Given the description of an element on the screen output the (x, y) to click on. 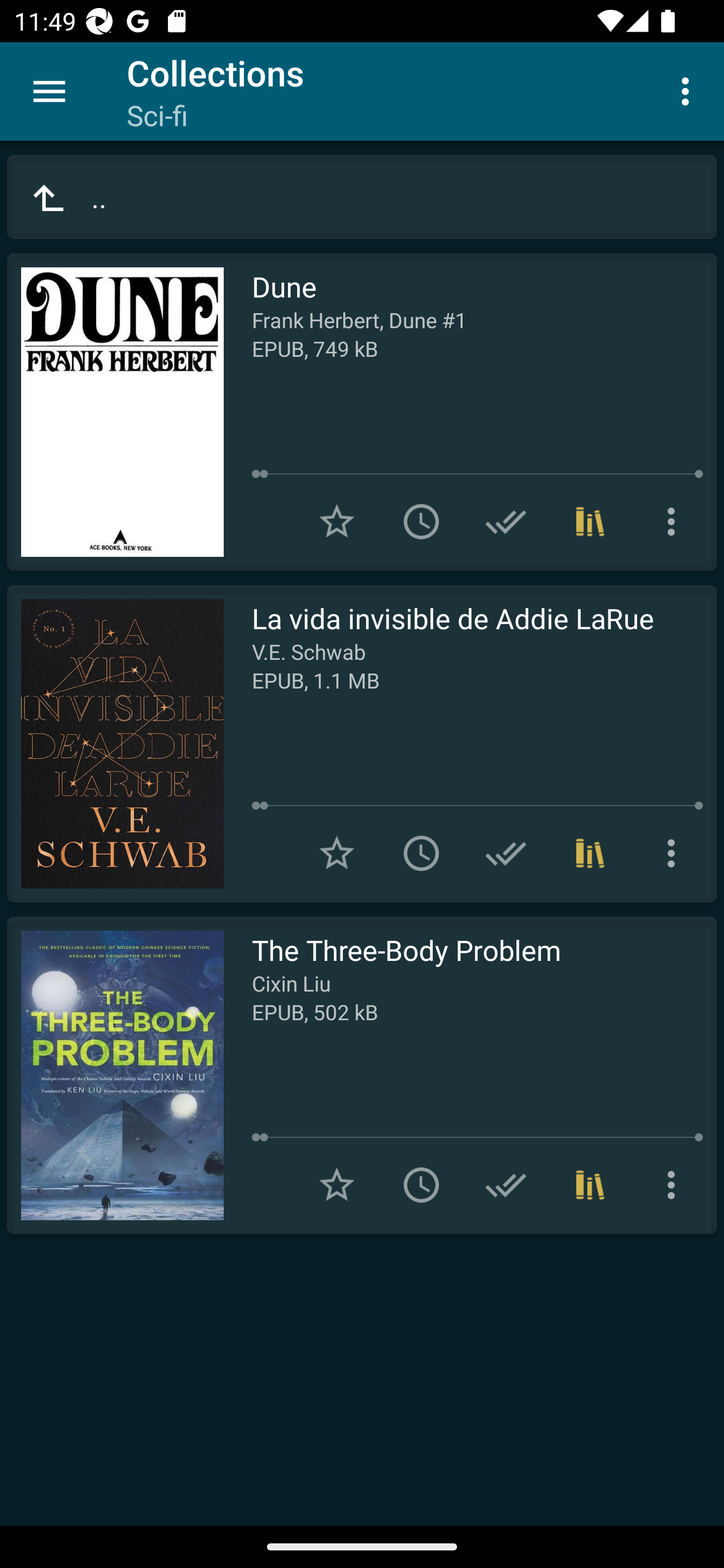
Menu (49, 91)
More options (688, 90)
.. (361, 197)
Read Dune (115, 412)
Add to Favorites (336, 521)
Add to To read (421, 521)
Add to Have read (505, 521)
Collections (1) (590, 521)
More options (674, 521)
Read La vida invisible de Addie LaRue (115, 743)
Add to Favorites (336, 852)
Add to To read (421, 852)
Add to Have read (505, 852)
Collections (1) (590, 852)
More options (674, 852)
Read The Three-Body Problem (115, 1075)
Add to Favorites (336, 1185)
Add to To read (421, 1185)
Add to Have read (505, 1185)
Collections (1) (590, 1185)
More options (674, 1185)
